Given the description of an element on the screen output the (x, y) to click on. 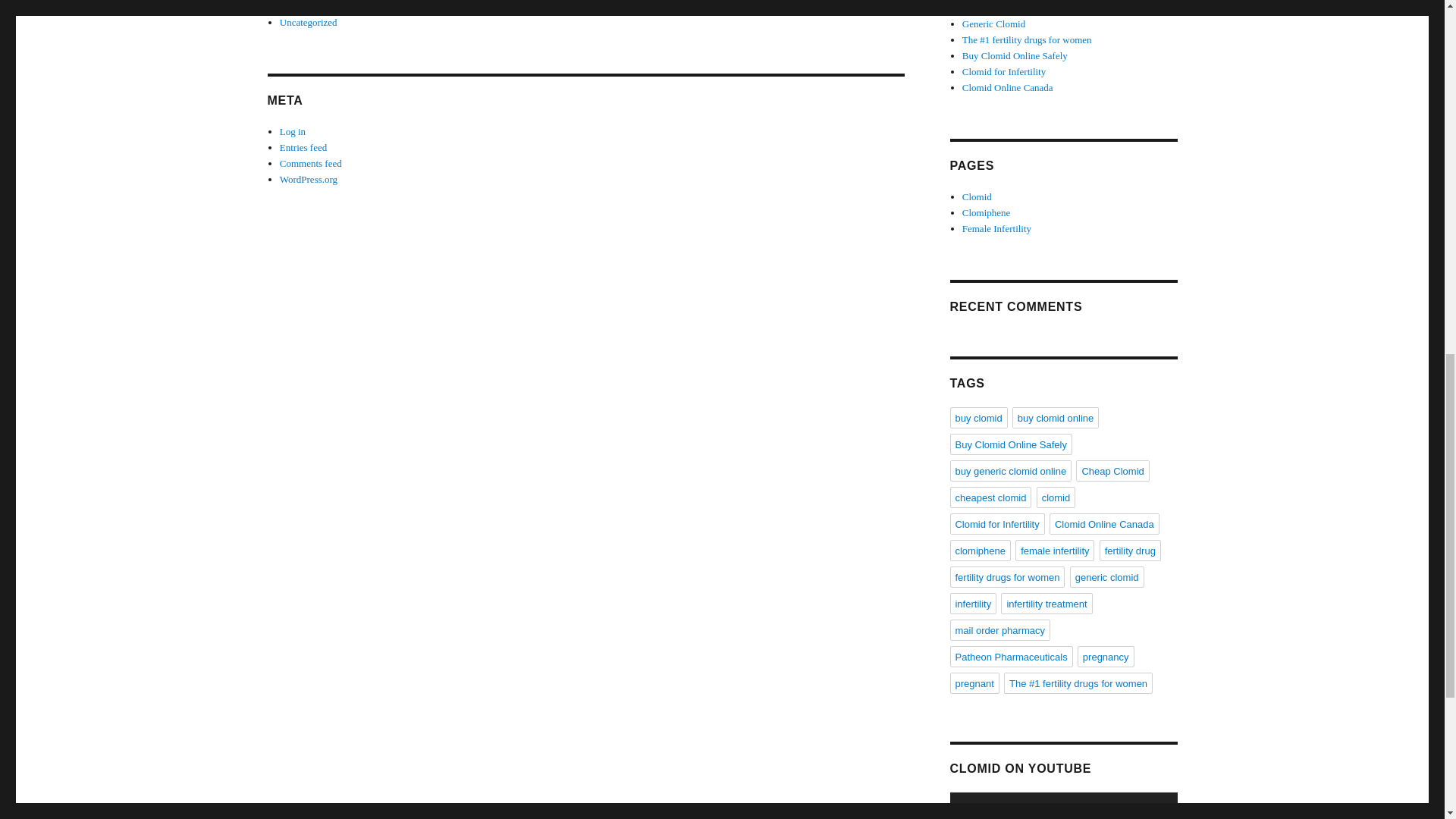
Entries feed (302, 147)
pregnancy (1105, 656)
cheapest clomid (989, 496)
female infertility (1054, 550)
infertility (972, 603)
infertility treatment (1046, 603)
generic clomid (1107, 577)
buy clomid online (1055, 417)
buy generic clomid online (1010, 470)
mail order pharmacy (999, 629)
clomiphene (979, 550)
Clomiphene (986, 212)
fertility drug (1129, 550)
fertility drugs for women (1006, 577)
Log in (292, 131)
